Given the description of an element on the screen output the (x, y) to click on. 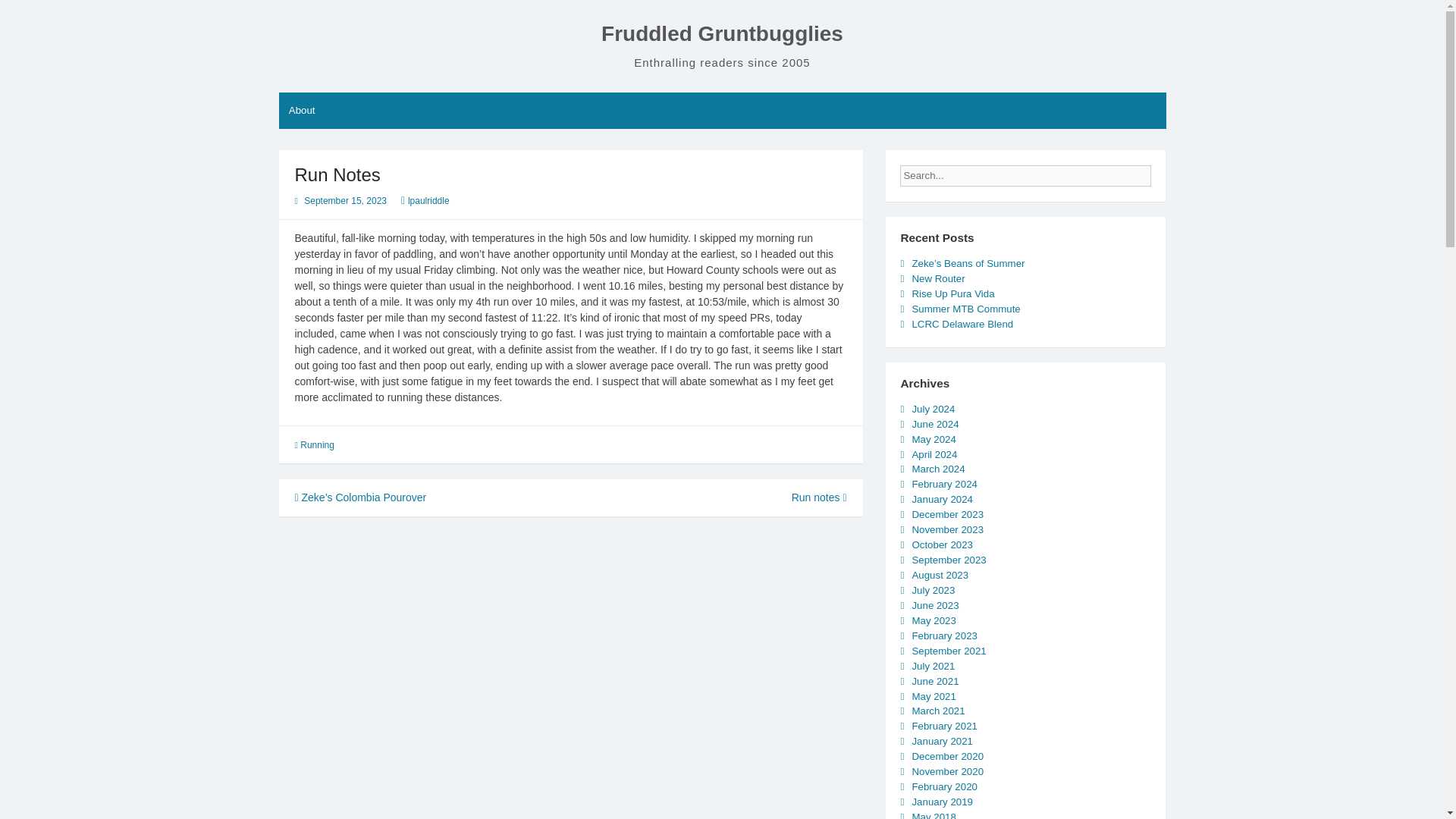
December 2023 (947, 514)
Fruddled Gruntbugglies (722, 33)
November 2023 (947, 529)
December 2020 (947, 756)
May 2023 (933, 620)
June 2023 (934, 604)
January 2024 (941, 499)
Running (316, 444)
lpaulriddle (428, 200)
June 2024 (934, 423)
Summer MTB Commute (965, 308)
September 2023 (948, 559)
Search (1163, 171)
Rise Up Pura Vida (952, 293)
July 2021 (933, 665)
